Given the description of an element on the screen output the (x, y) to click on. 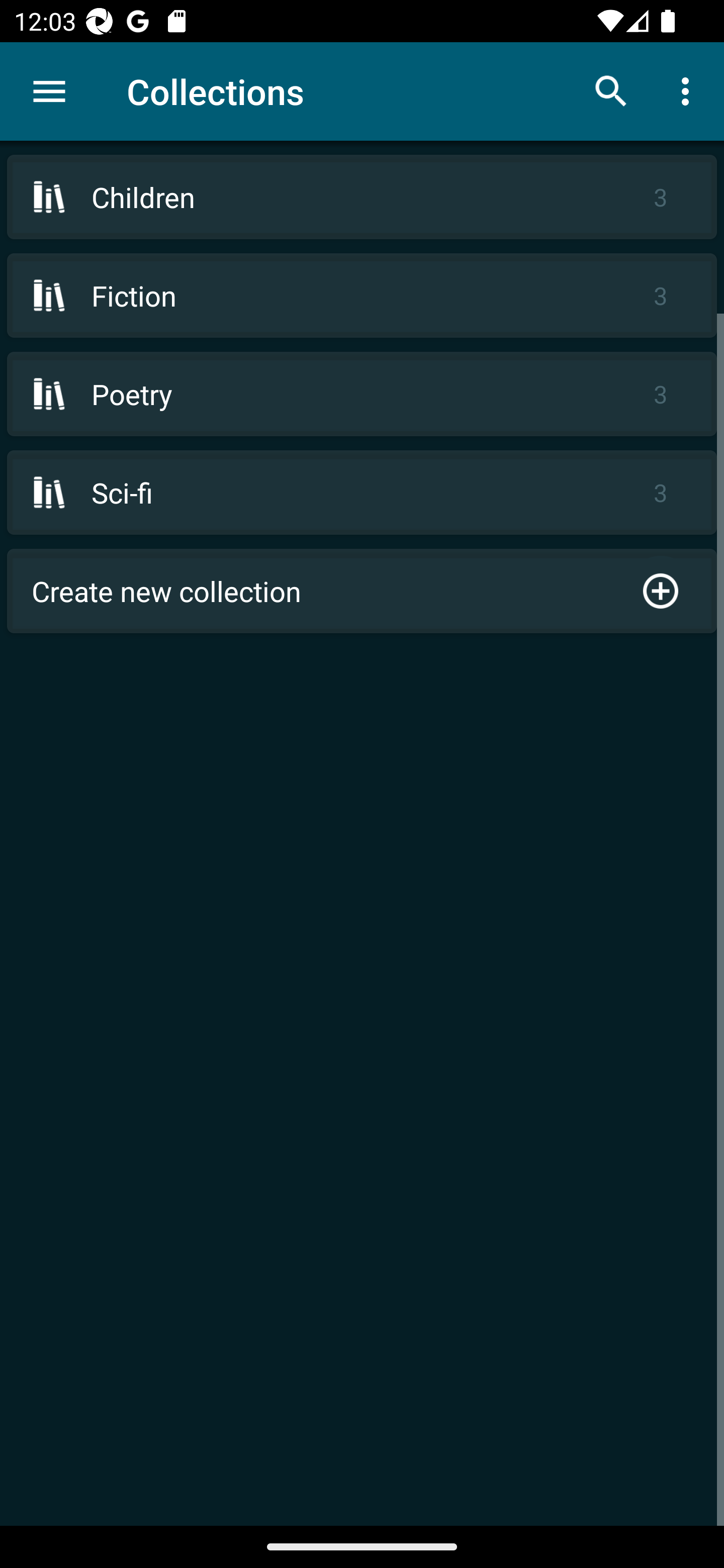
Menu (49, 91)
Search books & documents (611, 90)
More options (688, 90)
Children 3 (361, 197)
Fiction 3 (361, 295)
Poetry 3 (361, 393)
Sci-fi 3 (361, 492)
Create new collection (361, 590)
